Given the description of an element on the screen output the (x, y) to click on. 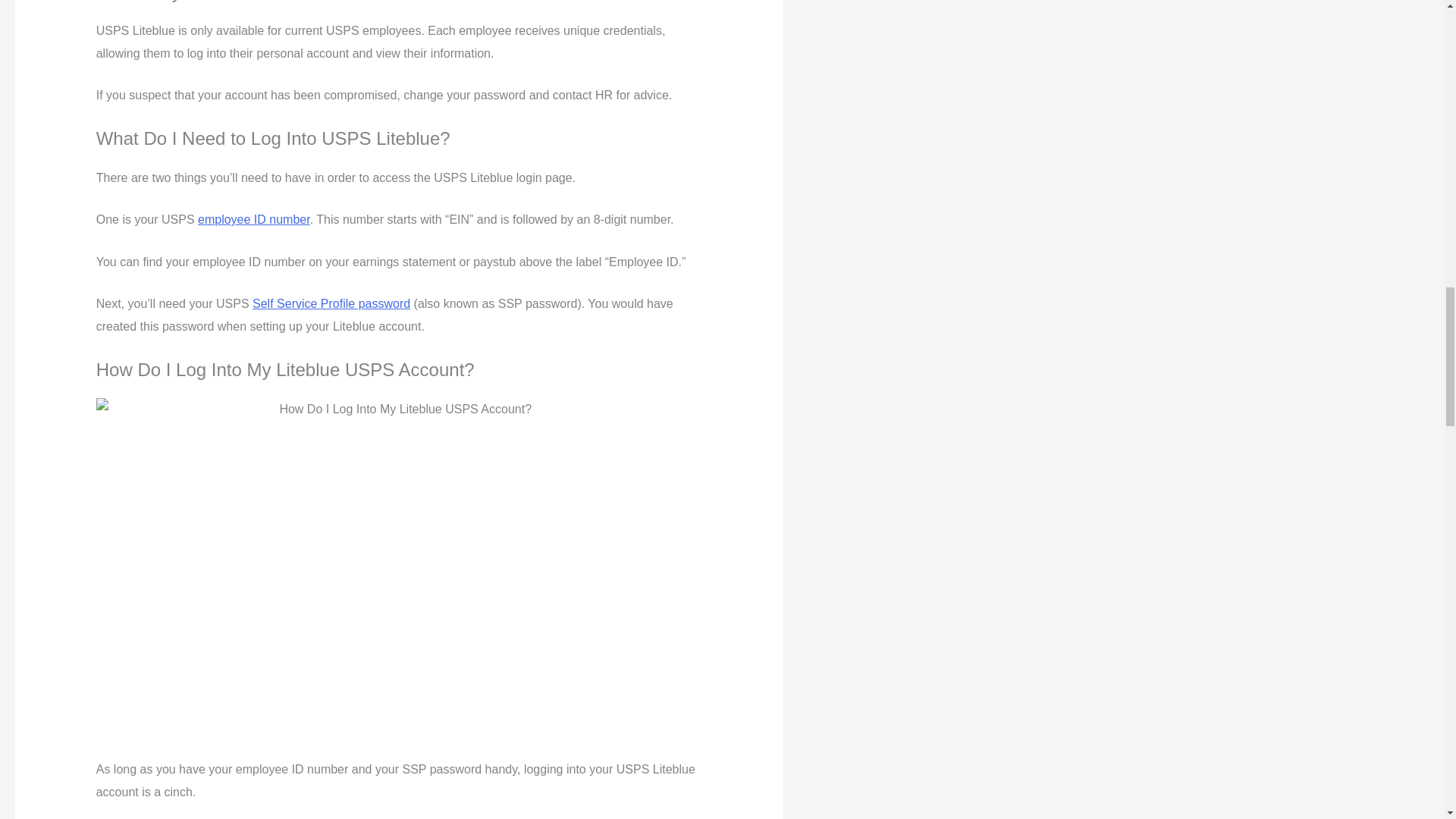
Self Service Profile password (330, 303)
employee ID number (254, 219)
